Given the description of an element on the screen output the (x, y) to click on. 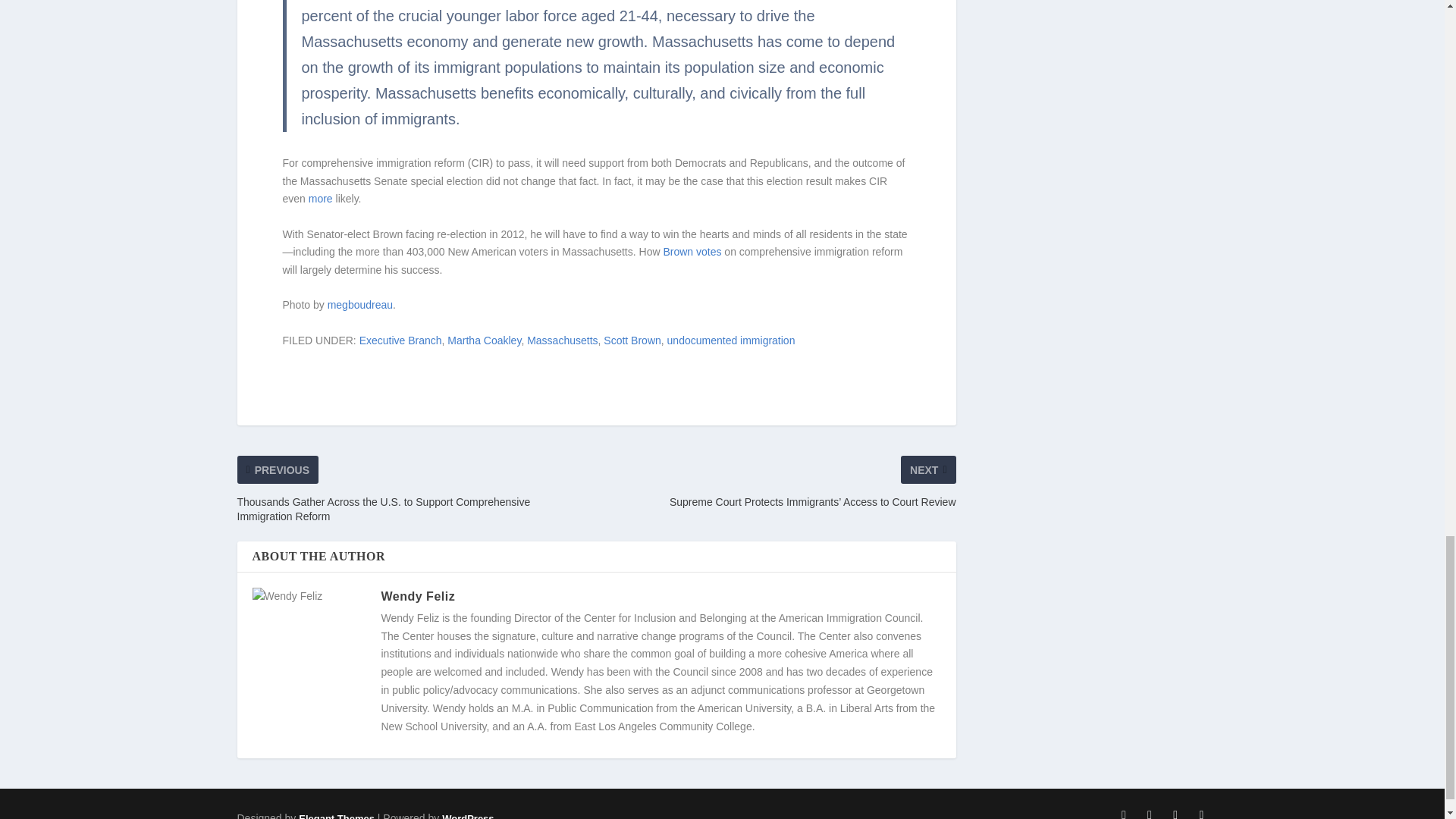
Brown votes (691, 251)
undocumented immigration (730, 340)
Executive Branch (400, 340)
more (320, 198)
Martha Coakley (483, 340)
Massachusetts (561, 340)
Scott Brown (632, 340)
megboudreau (360, 304)
